Given the description of an element on the screen output the (x, y) to click on. 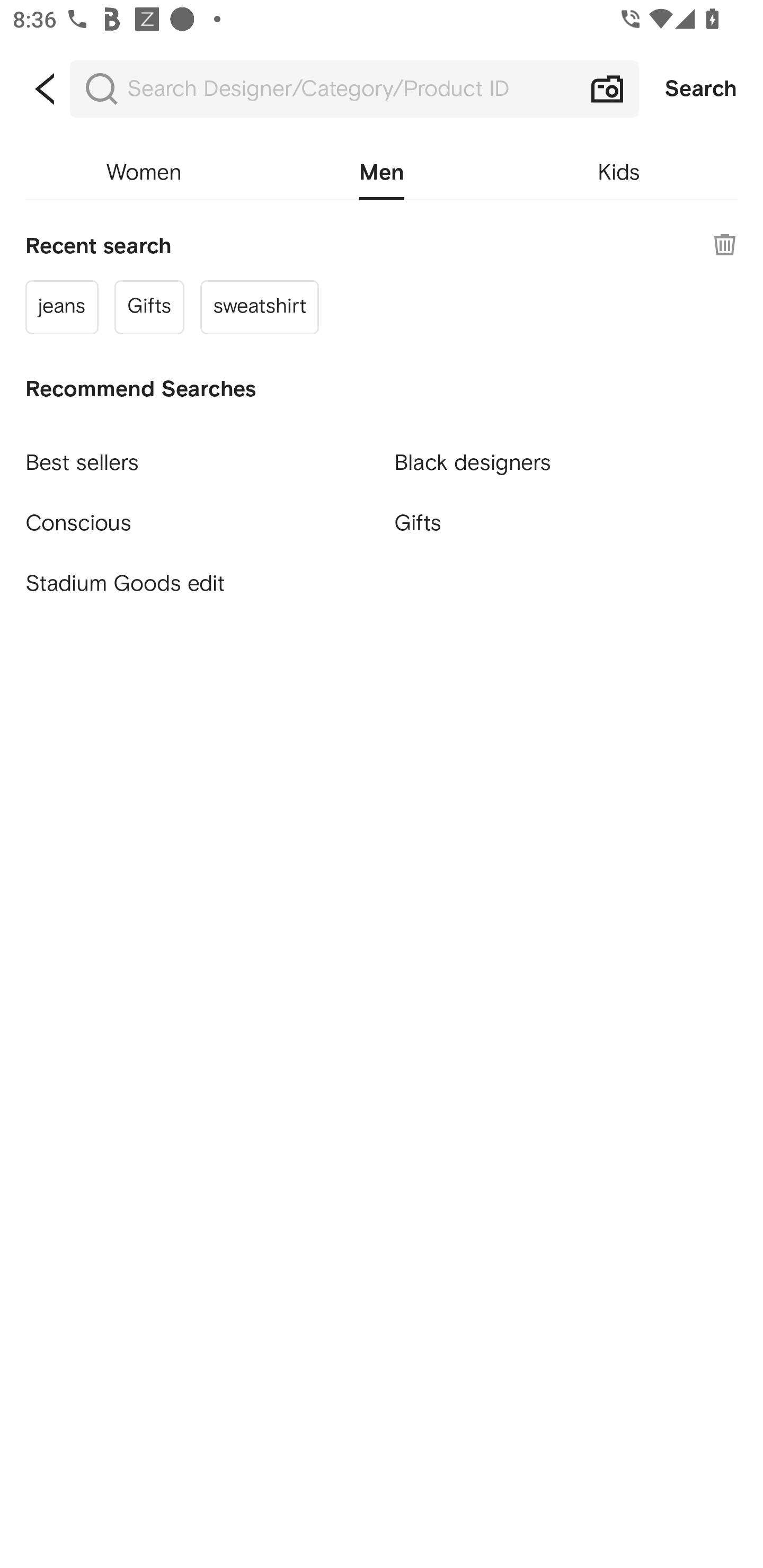
Search (701, 89)
Women (143, 172)
Kids (618, 172)
jeans (61, 306)
Gifts (149, 306)
sweatshirt (258, 306)
Best sellers (196, 454)
Black designers (565, 454)
Conscious (196, 514)
Gifts (565, 522)
Stadium Goods edit (196, 583)
